Given the description of an element on the screen output the (x, y) to click on. 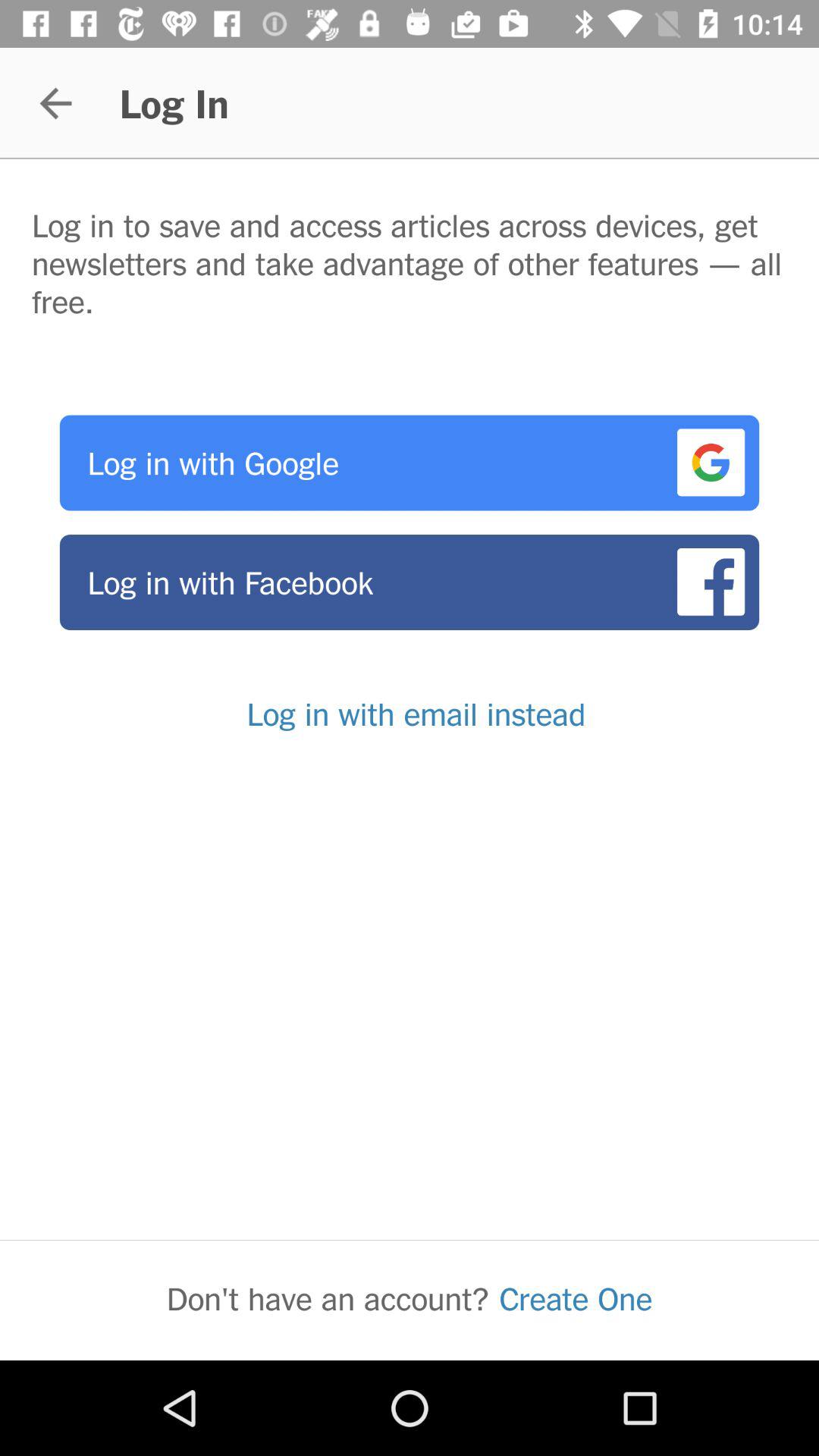
select icon next to don t have (575, 1298)
